Given the description of an element on the screen output the (x, y) to click on. 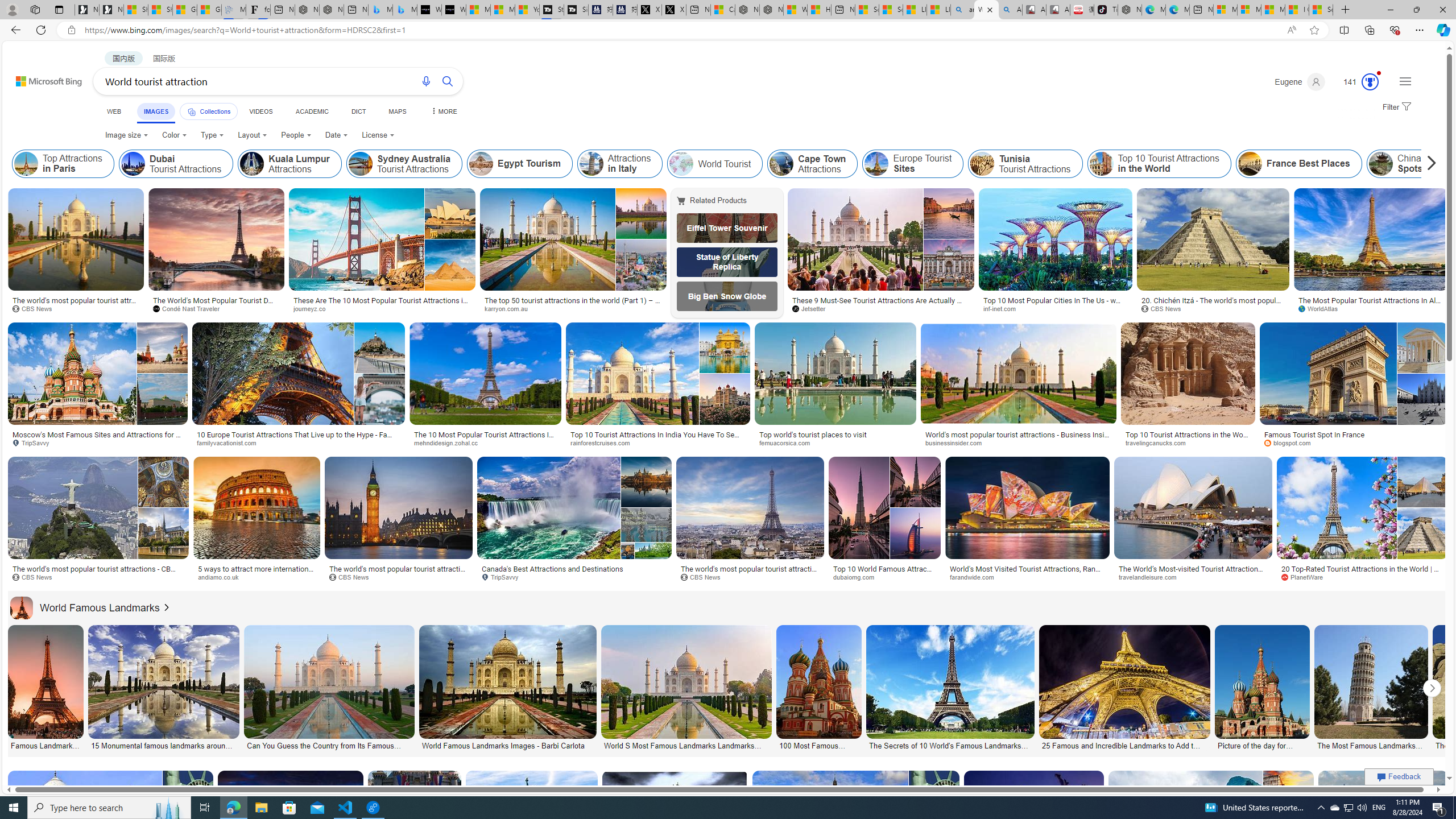
TripSavvy (573, 576)
Huge shark washes ashore at New York City beach | Watch (818, 9)
PlanetWare (1305, 576)
Top Attractions in Paris (63, 163)
Tunisia Tourist Attractions (981, 163)
Jetsetter (813, 308)
inf-inet.com (1055, 308)
People (295, 135)
Image size (126, 135)
Eiffel Tower Souvenir (727, 227)
Top 10 Tourist Attractions in the World | Traveling Canucks (1188, 438)
